Given the description of an element on the screen output the (x, y) to click on. 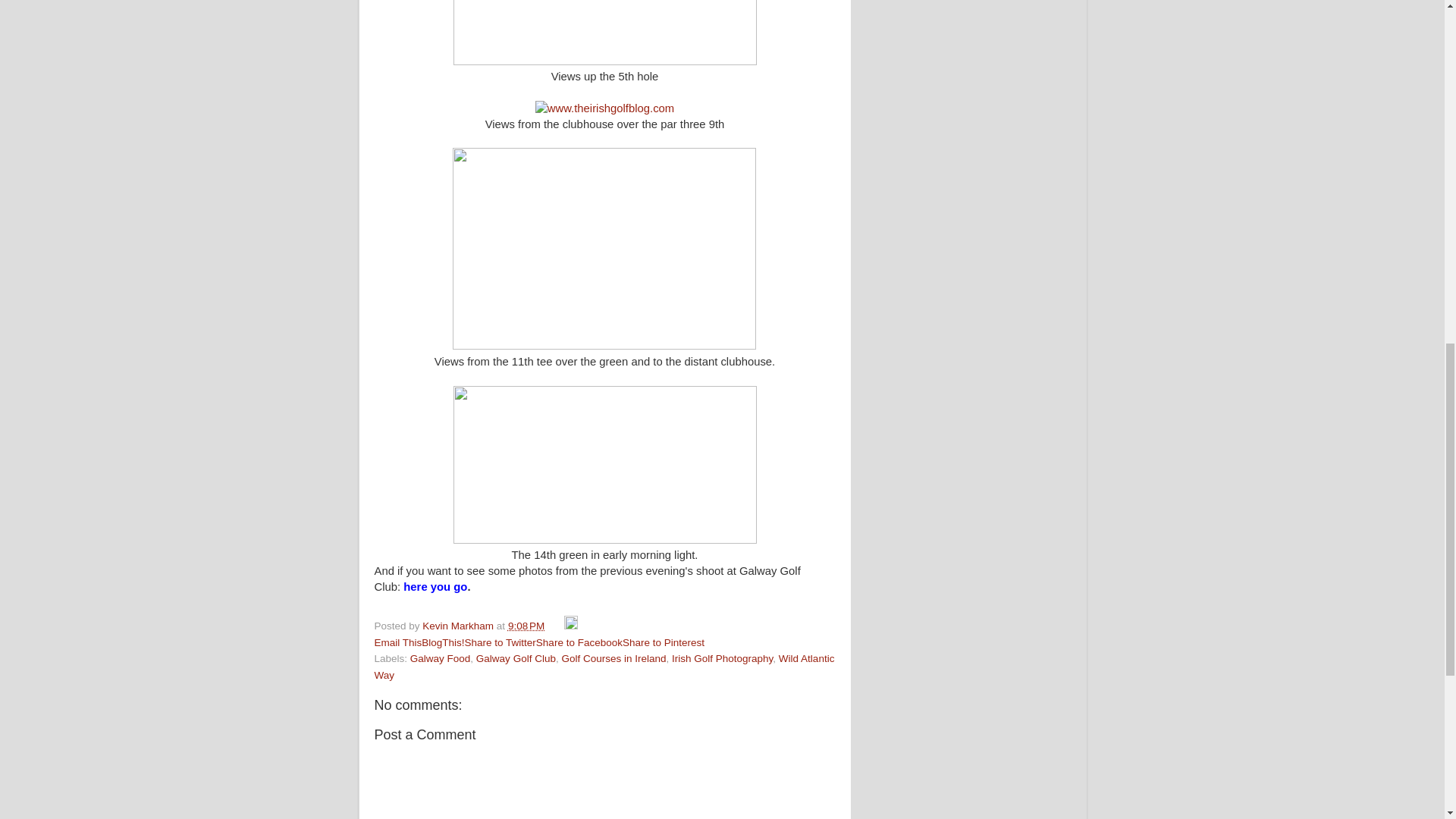
Edit Post (571, 625)
Email This (398, 642)
Galway Golf Club (604, 464)
Kevin Markham (459, 625)
Share to Twitter (499, 642)
Irish Golf Photography (722, 658)
Galway Golf Club (516, 658)
Wild Atlantic Way (604, 666)
Share to Pinterest (663, 642)
BlogThis! (443, 642)
